Given the description of an element on the screen output the (x, y) to click on. 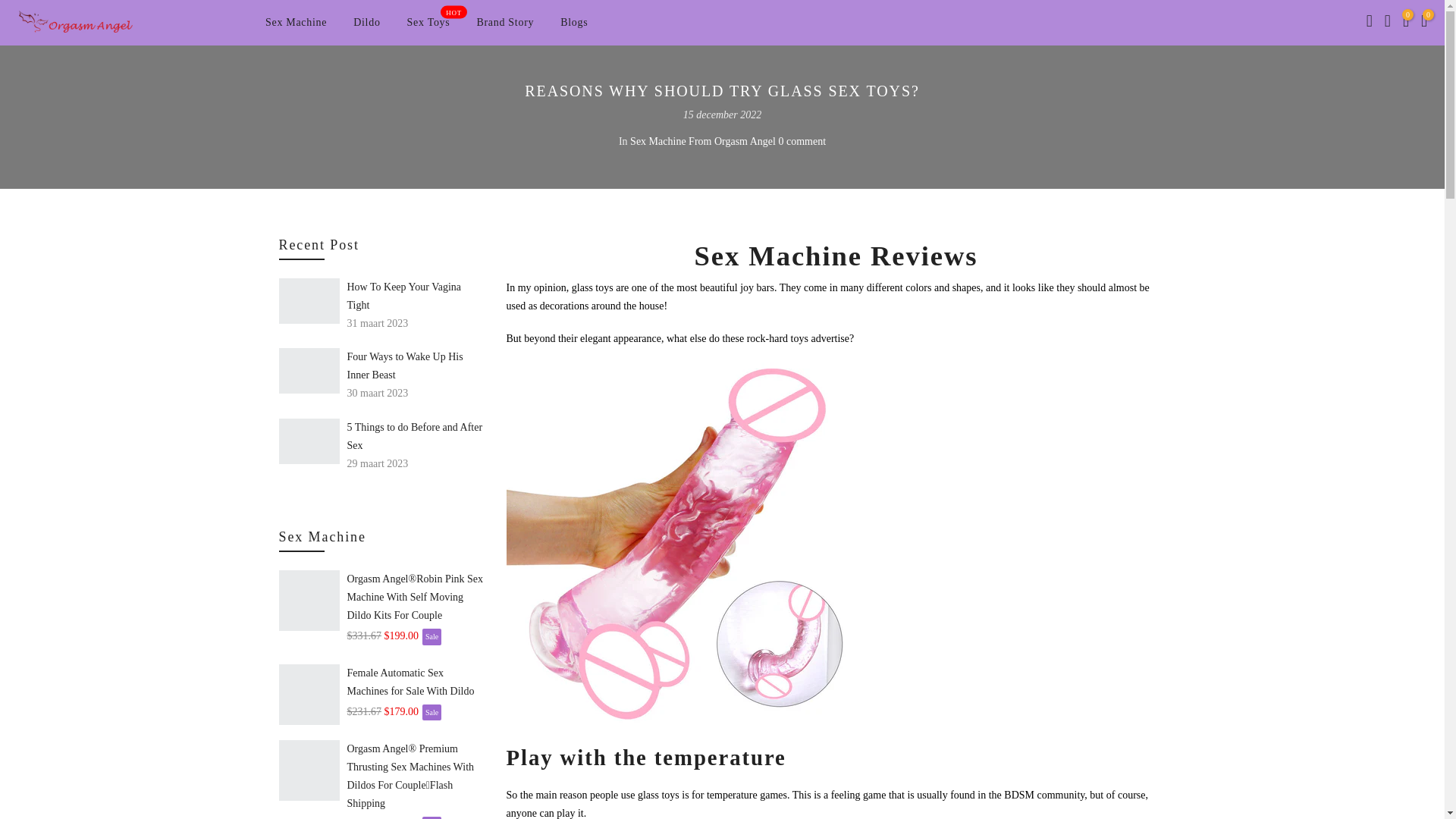
Sex Machine From Orgasm Angel (703, 140)
How To Keep Your Vagina Tight (415, 296)
0 (1405, 23)
Sex Machine (295, 22)
Blogs (574, 22)
sex machine online (688, 542)
0 comment (428, 22)
Female Automatic Sex Machines for Sale With Dildo (801, 140)
Four Ways to Wake Up His Inner Beast (415, 682)
